Given the description of an element on the screen output the (x, y) to click on. 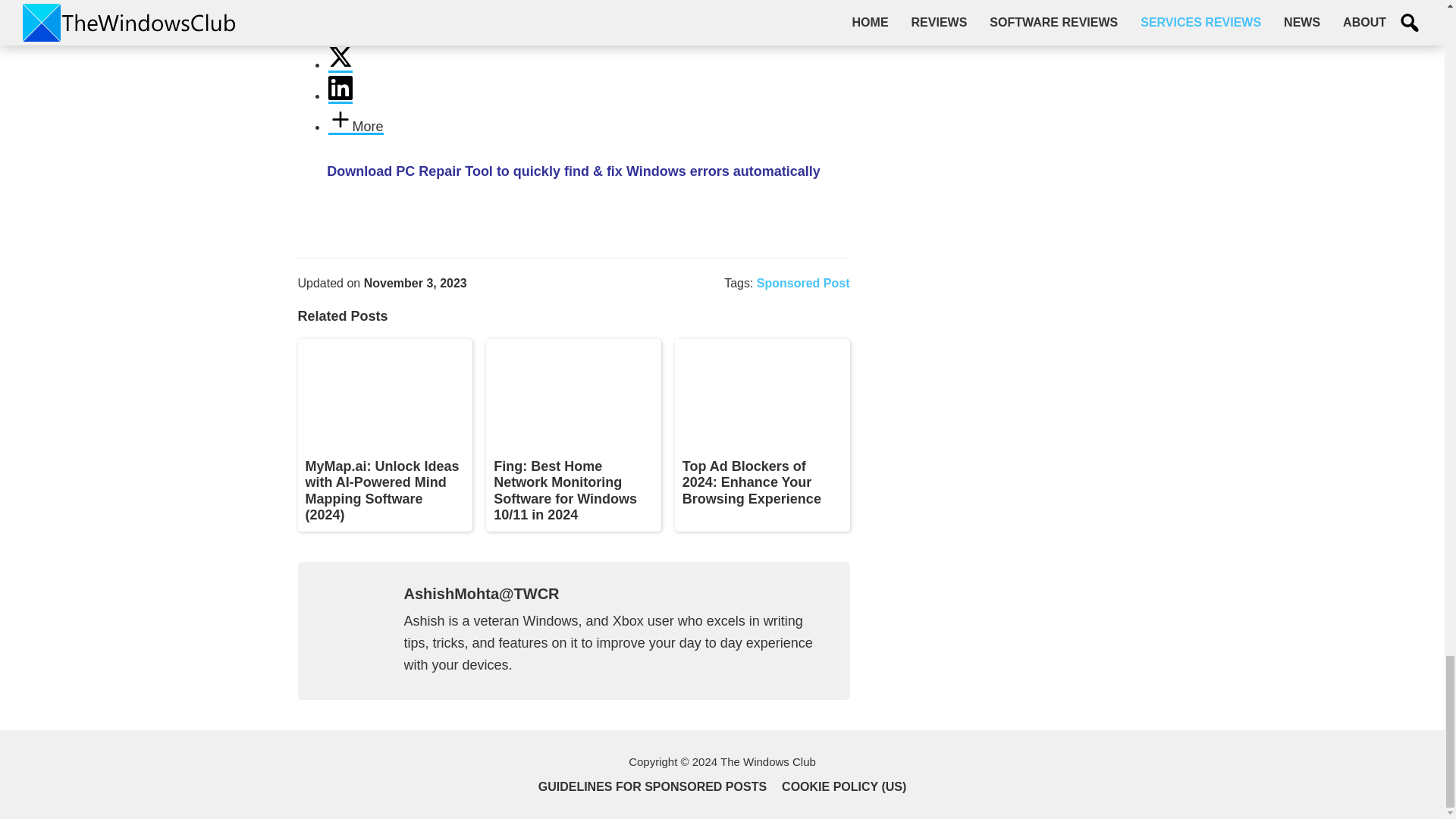
More (354, 126)
Sponsored Post (803, 282)
Top Ad Blockers of 2024: Enhance Your Browsing Experience (751, 482)
